Given the description of an element on the screen output the (x, y) to click on. 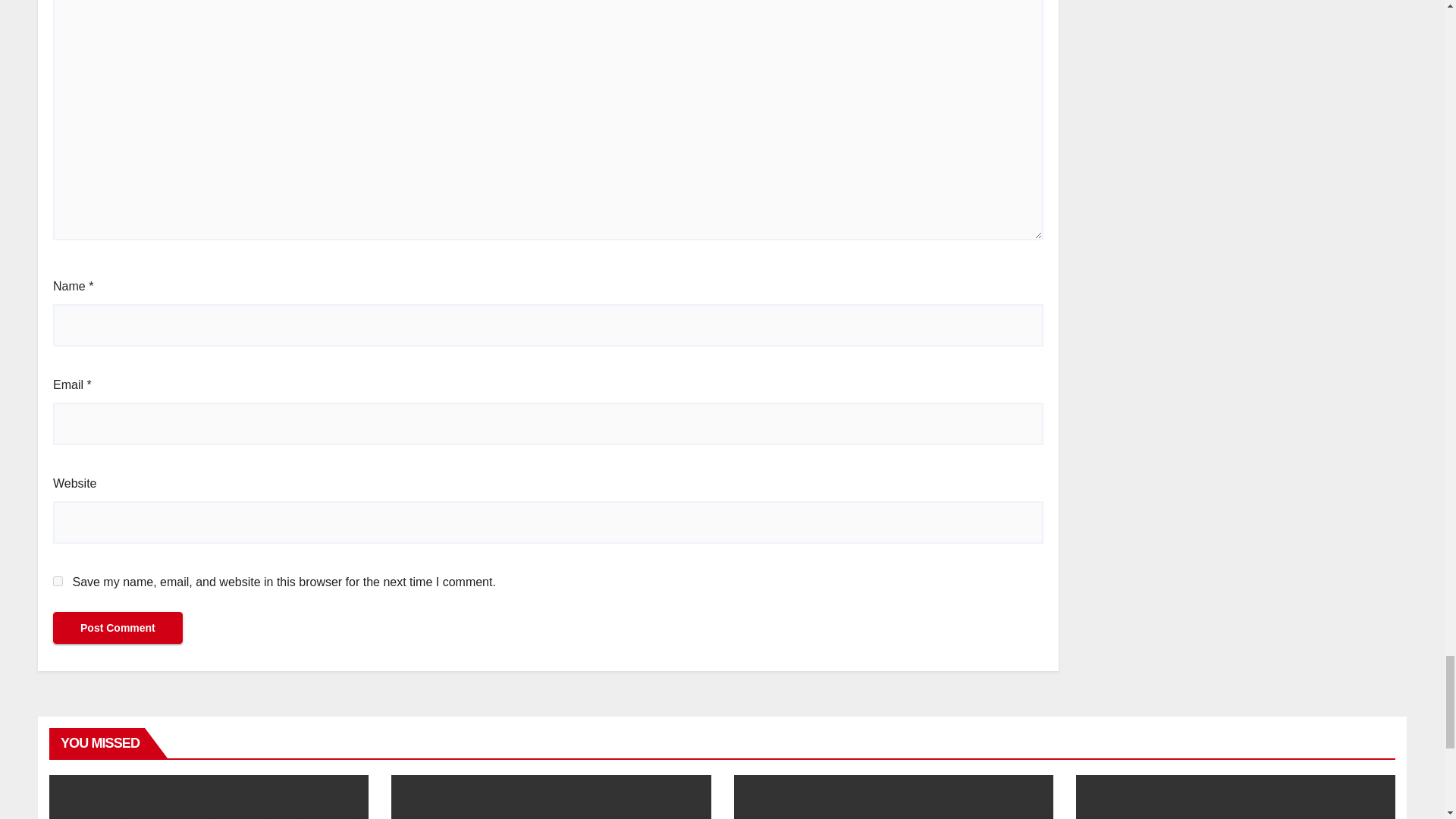
Post Comment (117, 626)
yes (57, 581)
Post Comment (117, 626)
